Given the description of an element on the screen output the (x, y) to click on. 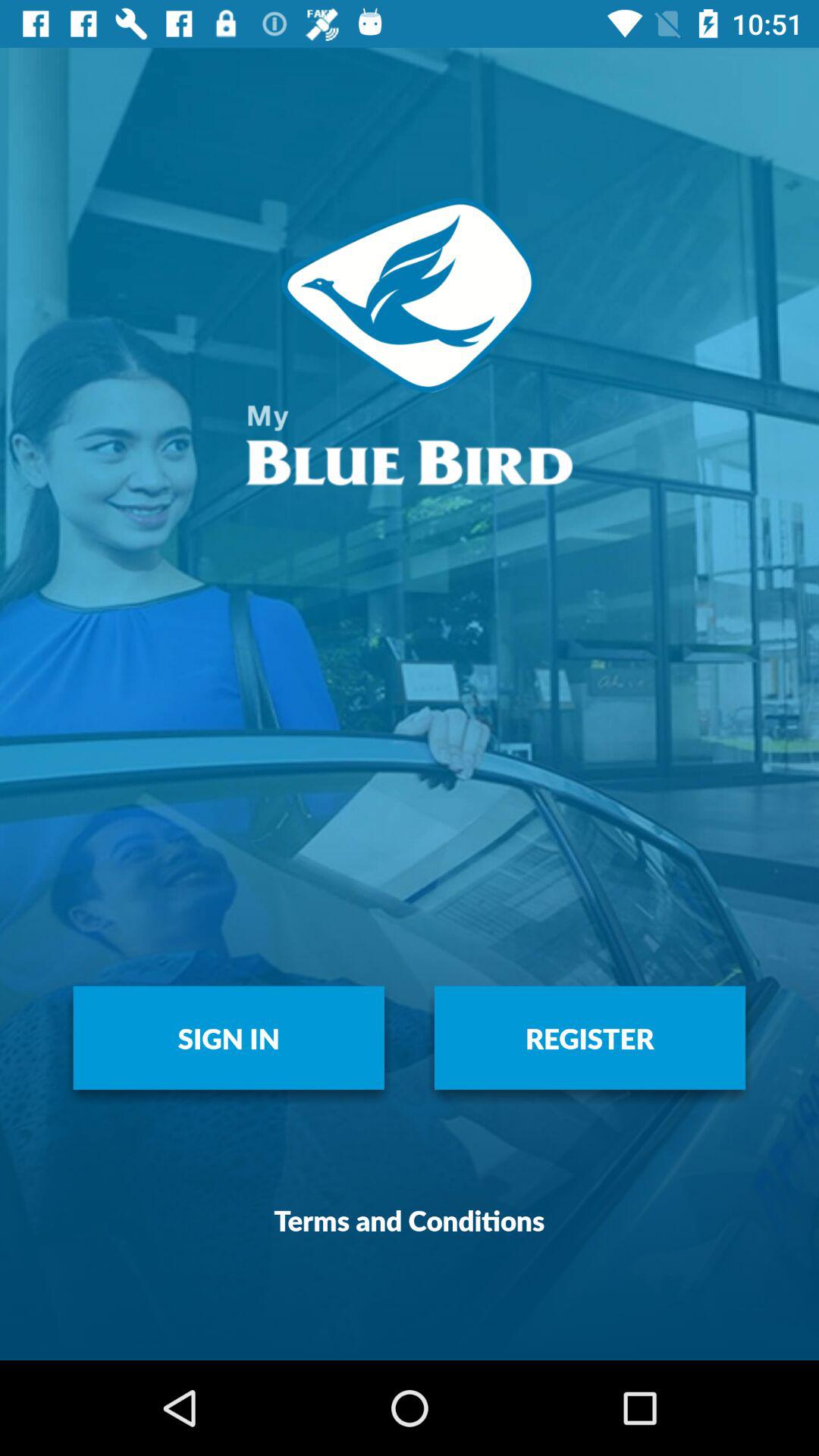
choose terms and conditions icon (409, 1219)
